Given the description of an element on the screen output the (x, y) to click on. 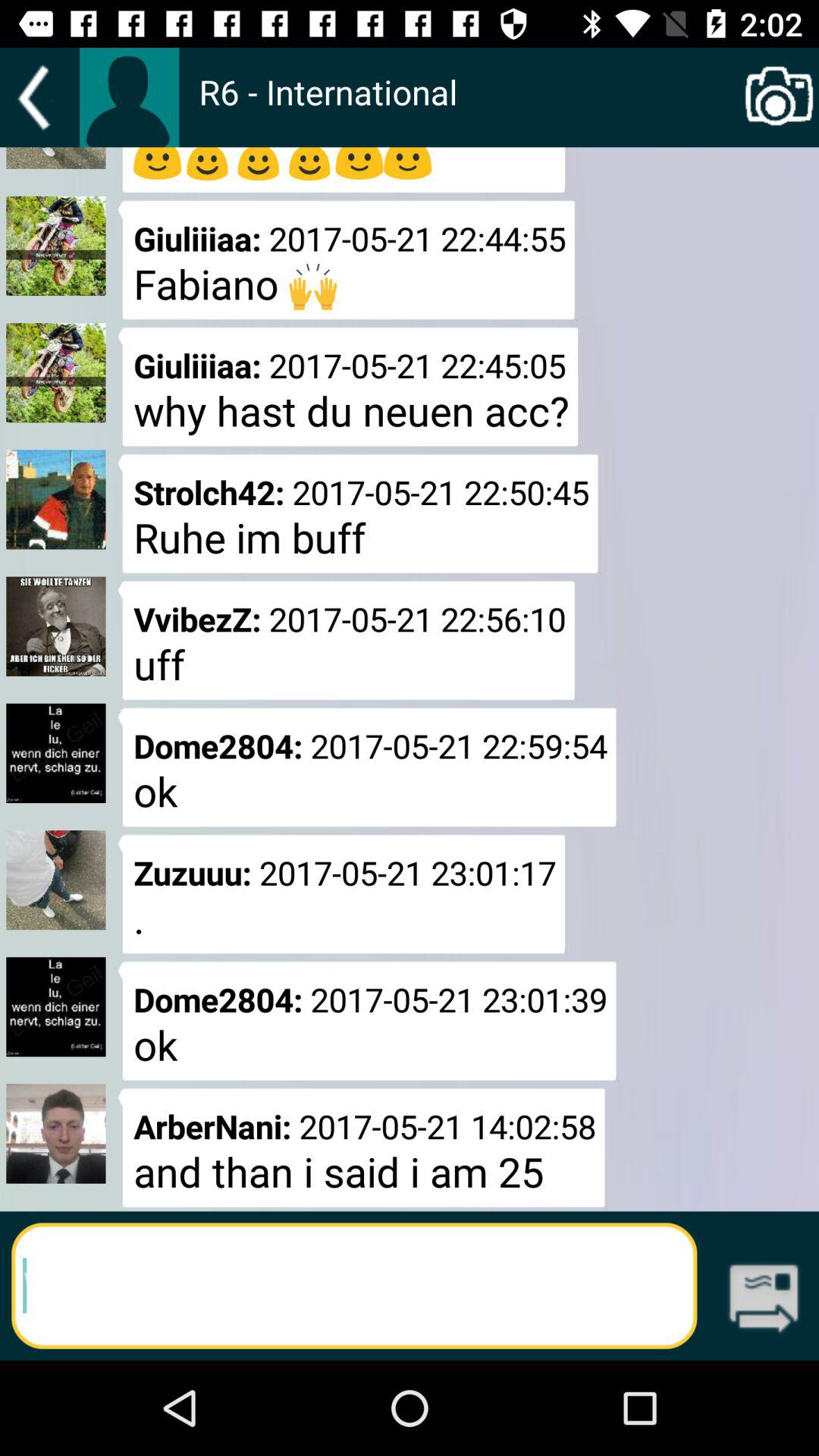
flip until vvibezz 2017 05 app (346, 639)
